Given the description of an element on the screen output the (x, y) to click on. 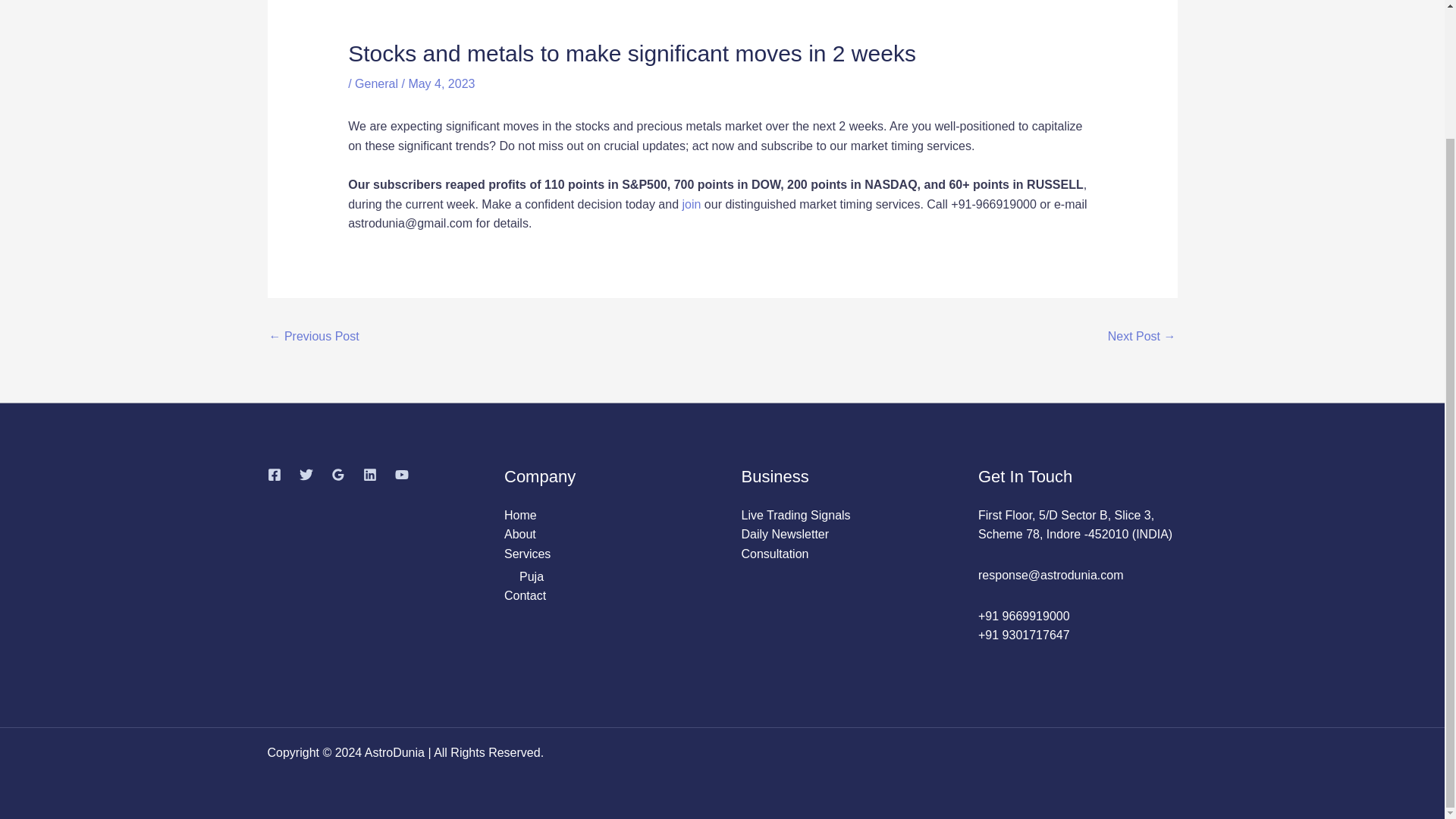
Services (526, 553)
Puja (531, 576)
General (376, 83)
Home (520, 514)
Contact (524, 594)
Consultation (775, 553)
About (519, 533)
join (690, 204)
Live Trading Signals (795, 514)
Daily Newsletter (785, 533)
